Given the description of an element on the screen output the (x, y) to click on. 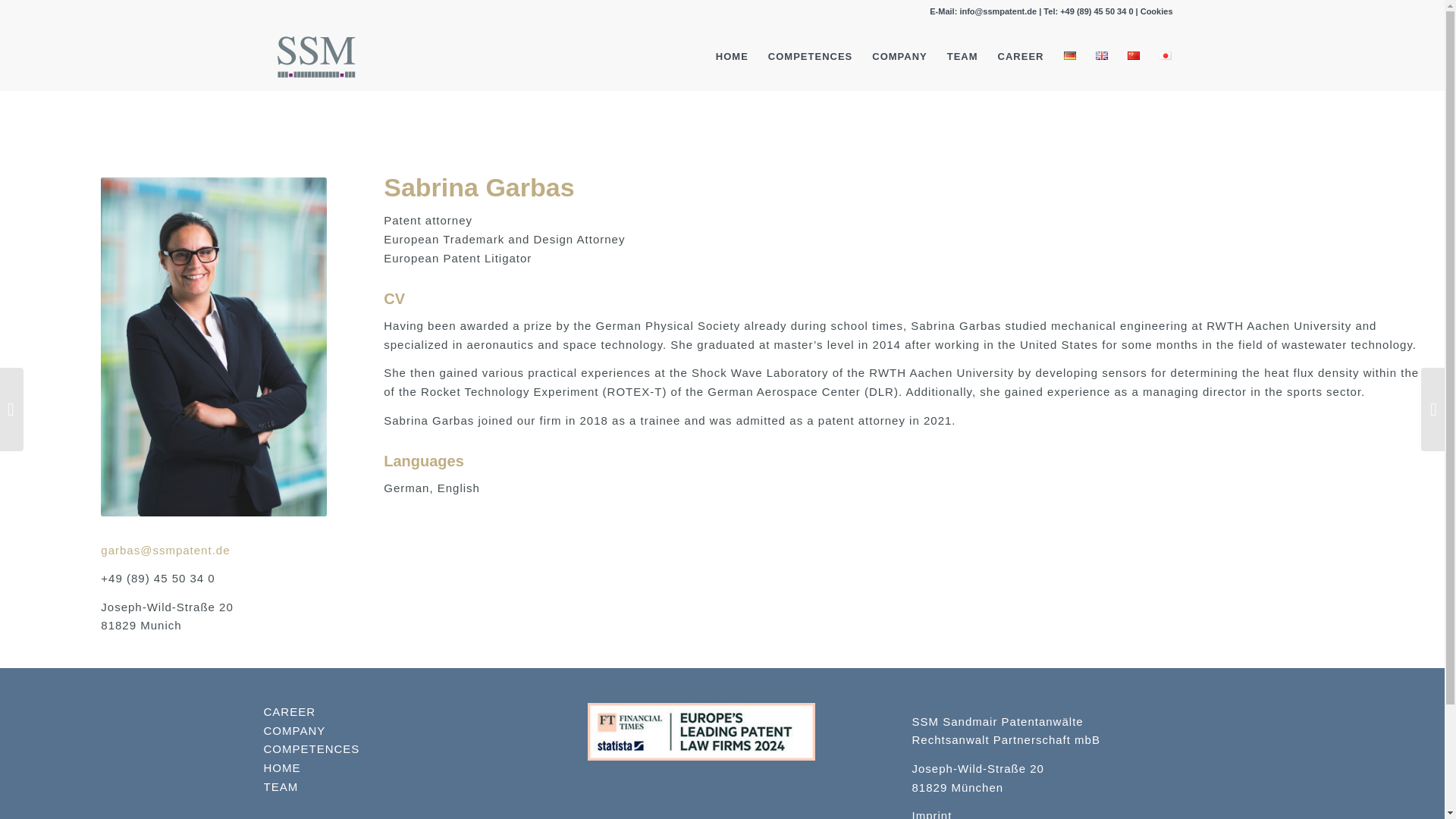
COMPETENCES (311, 748)
CAREER (1021, 56)
ssm-patent-munich-2018-mk-ohne-text (315, 56)
COMPANY (898, 56)
COMPANY (294, 730)
COMPETENCES (809, 56)
TEAM (280, 786)
Imprint (932, 814)
CAREER (289, 711)
ssm-patent-munich-2018-mk-ohne-text (315, 56)
